Given the description of an element on the screen output the (x, y) to click on. 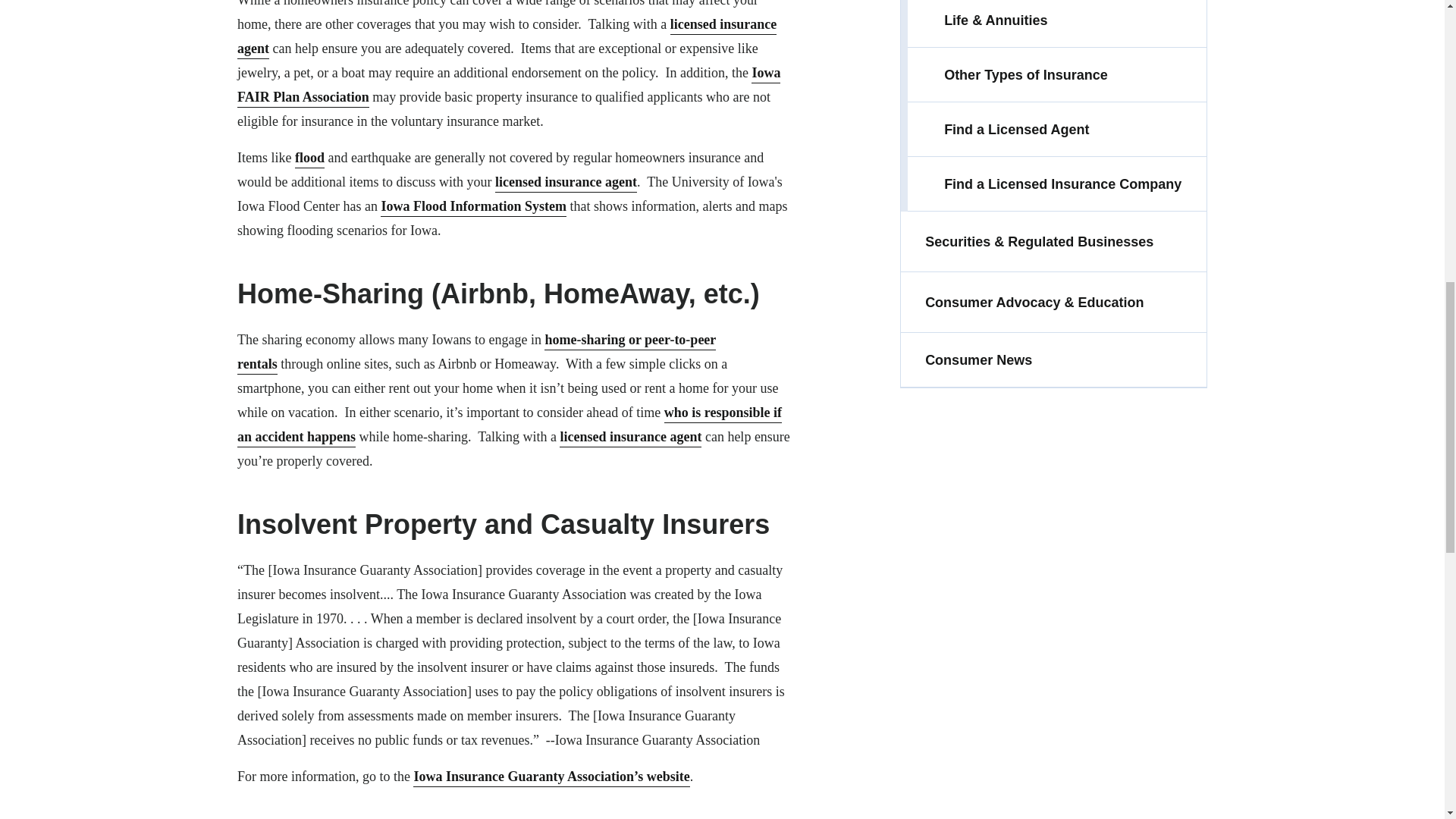
Find a Licensed Insurance Agent (506, 35)
Find a Licensed Insurance Agent (566, 181)
Find a Licensed Insurance Agent (630, 436)
